Given the description of an element on the screen output the (x, y) to click on. 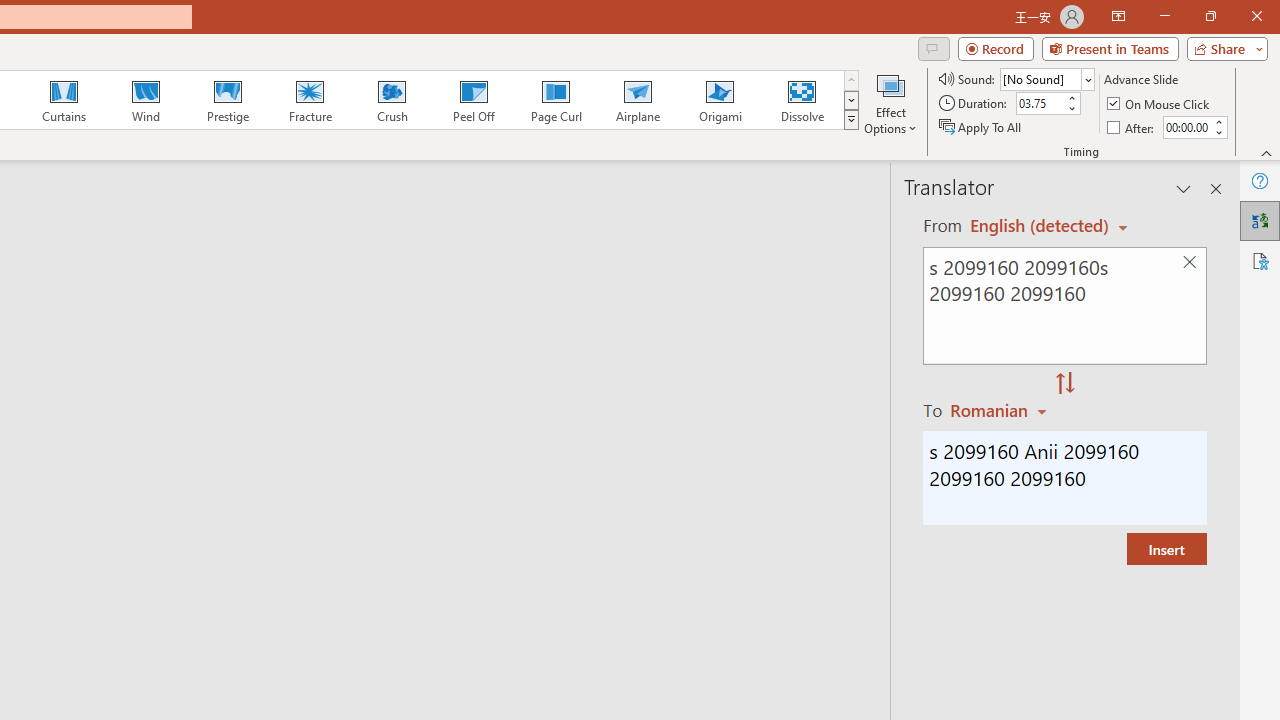
Prestige (227, 100)
After (1186, 127)
Czech (detected) (1039, 225)
Wind (145, 100)
Fracture (309, 100)
